Given the description of an element on the screen output the (x, y) to click on. 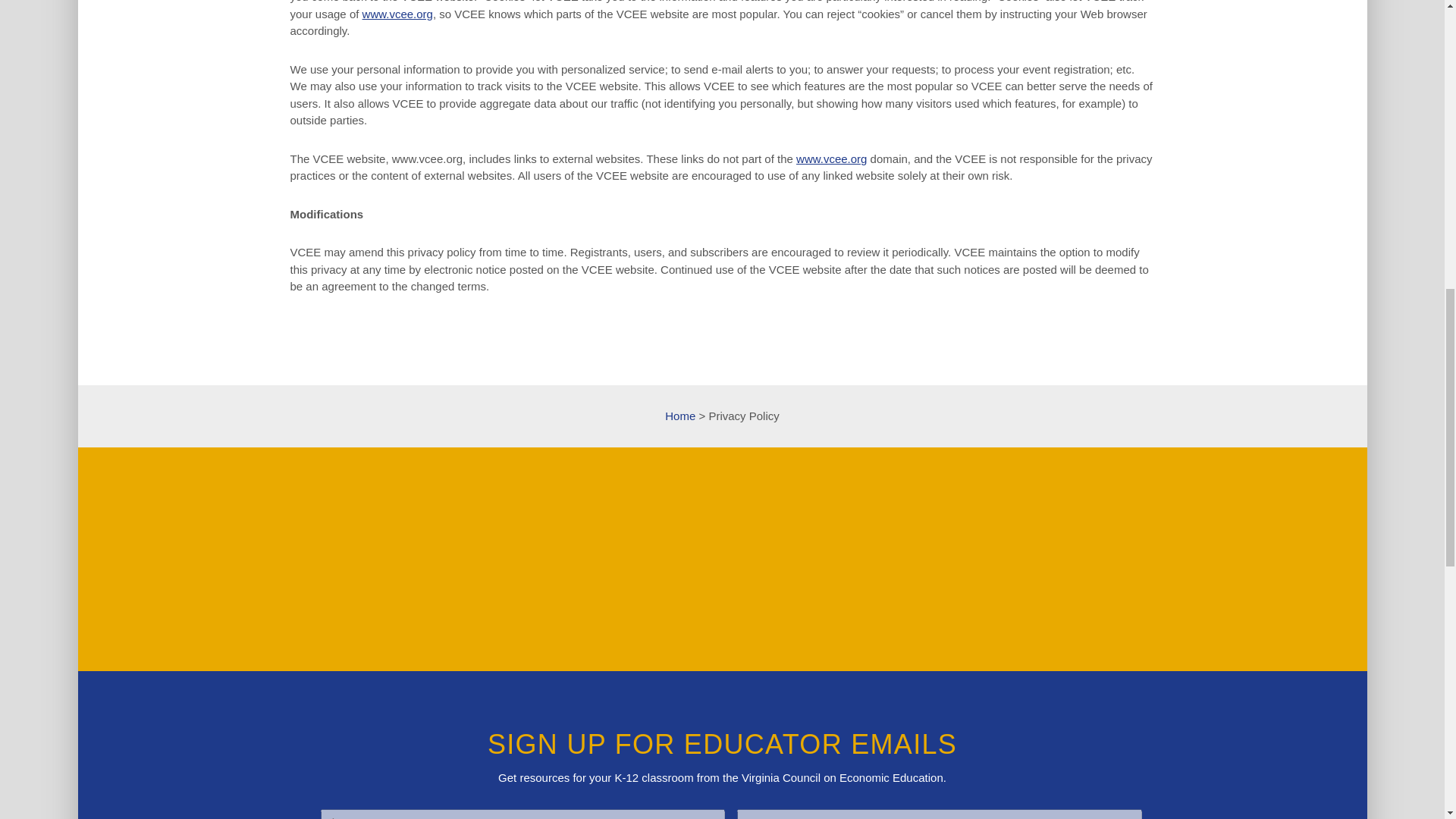
Go to VCEE Virginia Council on Economic Education. (680, 415)
